Given the description of an element on the screen output the (x, y) to click on. 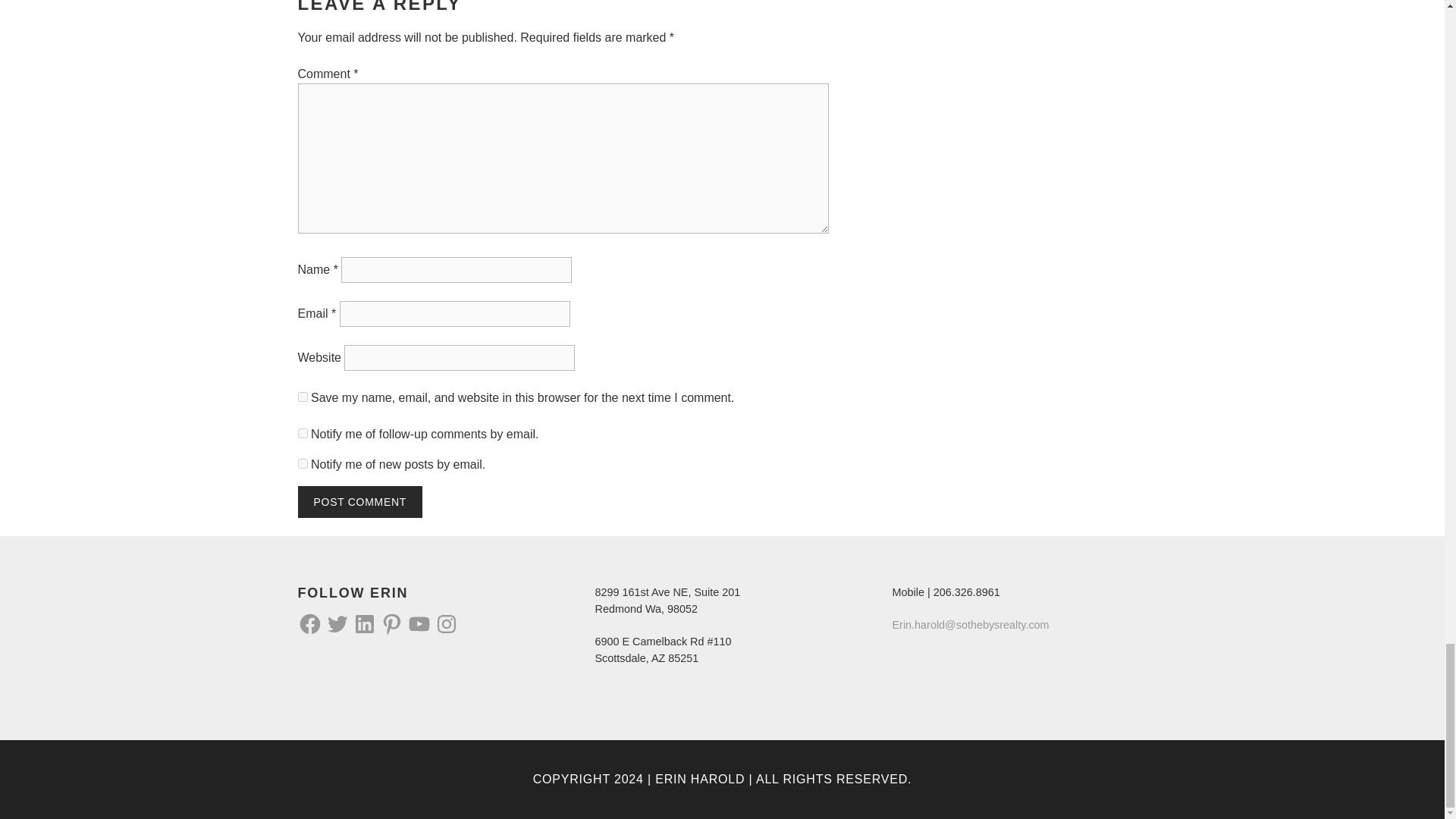
Post Comment (359, 501)
subscribe (302, 433)
subscribe (302, 463)
yes (302, 397)
